Given the description of an element on the screen output the (x, y) to click on. 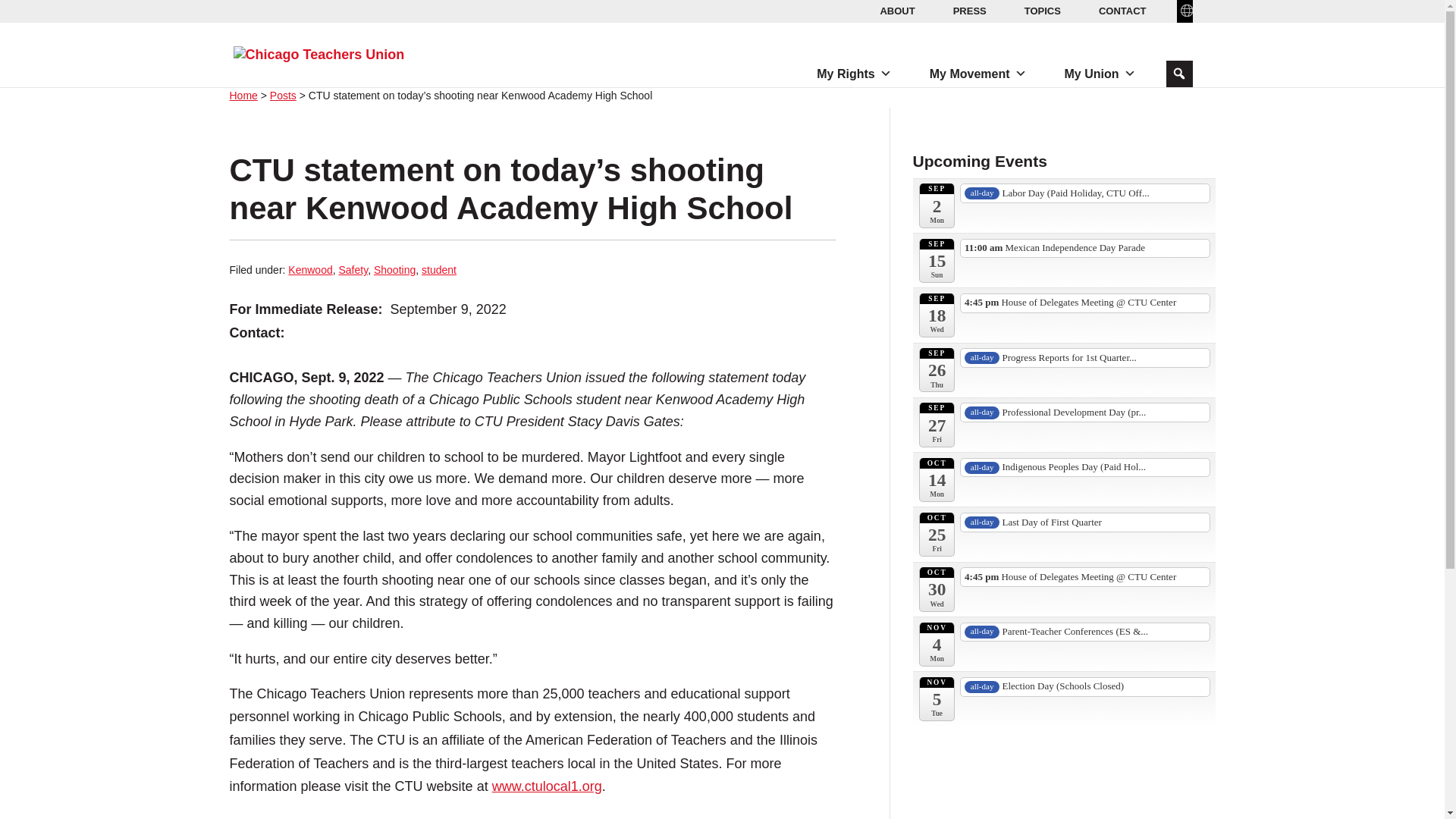
CONTACT (1122, 10)
My Movement (977, 73)
TOPICS (1042, 10)
PRESS (969, 10)
ABOUT (896, 10)
Go to Chicago Teachers Union. (242, 95)
My Rights (853, 73)
My Union (1099, 73)
